Given the description of an element on the screen output the (x, y) to click on. 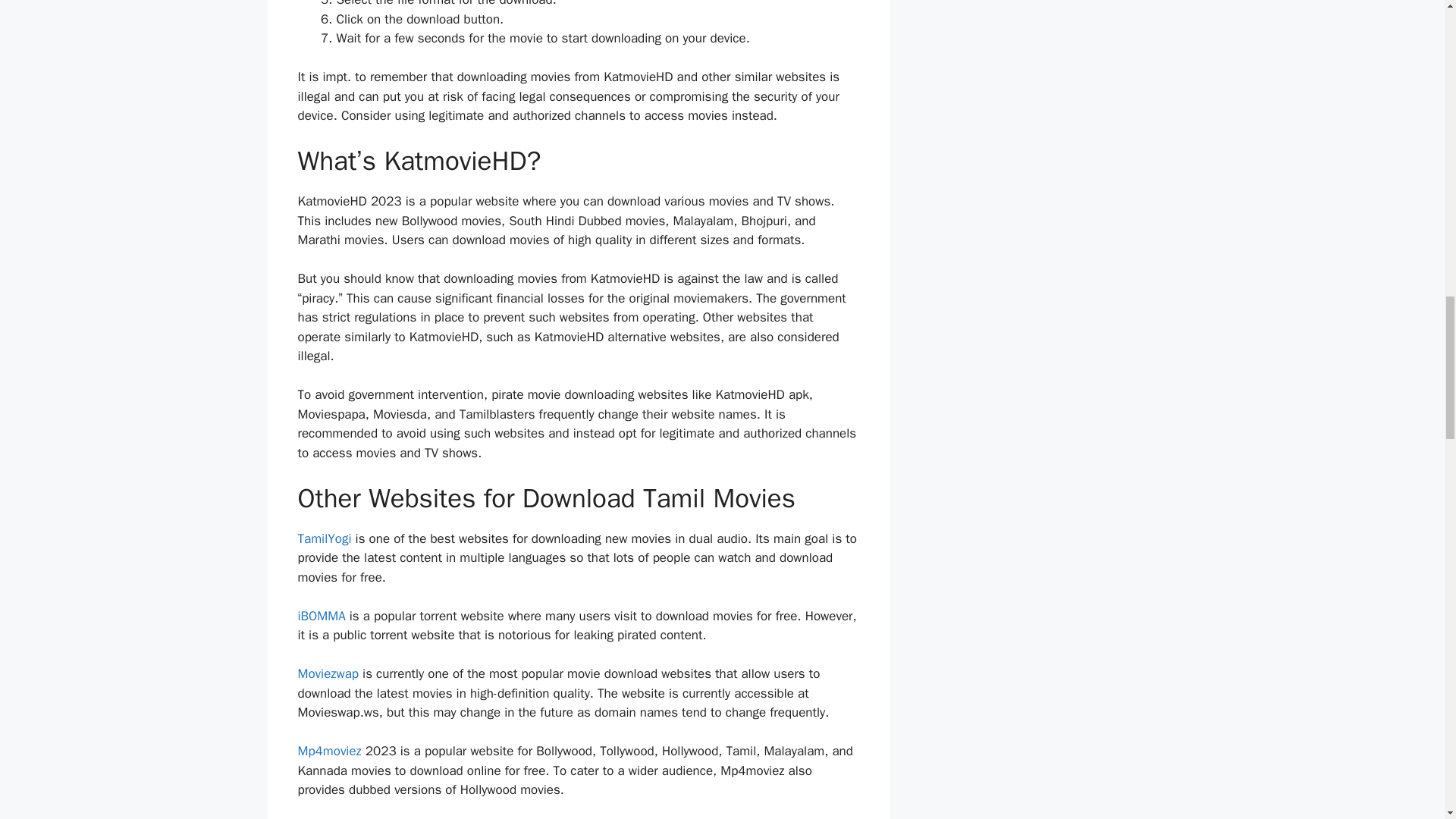
TamilYogi (323, 538)
iBOMMA (321, 616)
Mp4moviez (329, 750)
Moviezwap (327, 673)
